Given the description of an element on the screen output the (x, y) to click on. 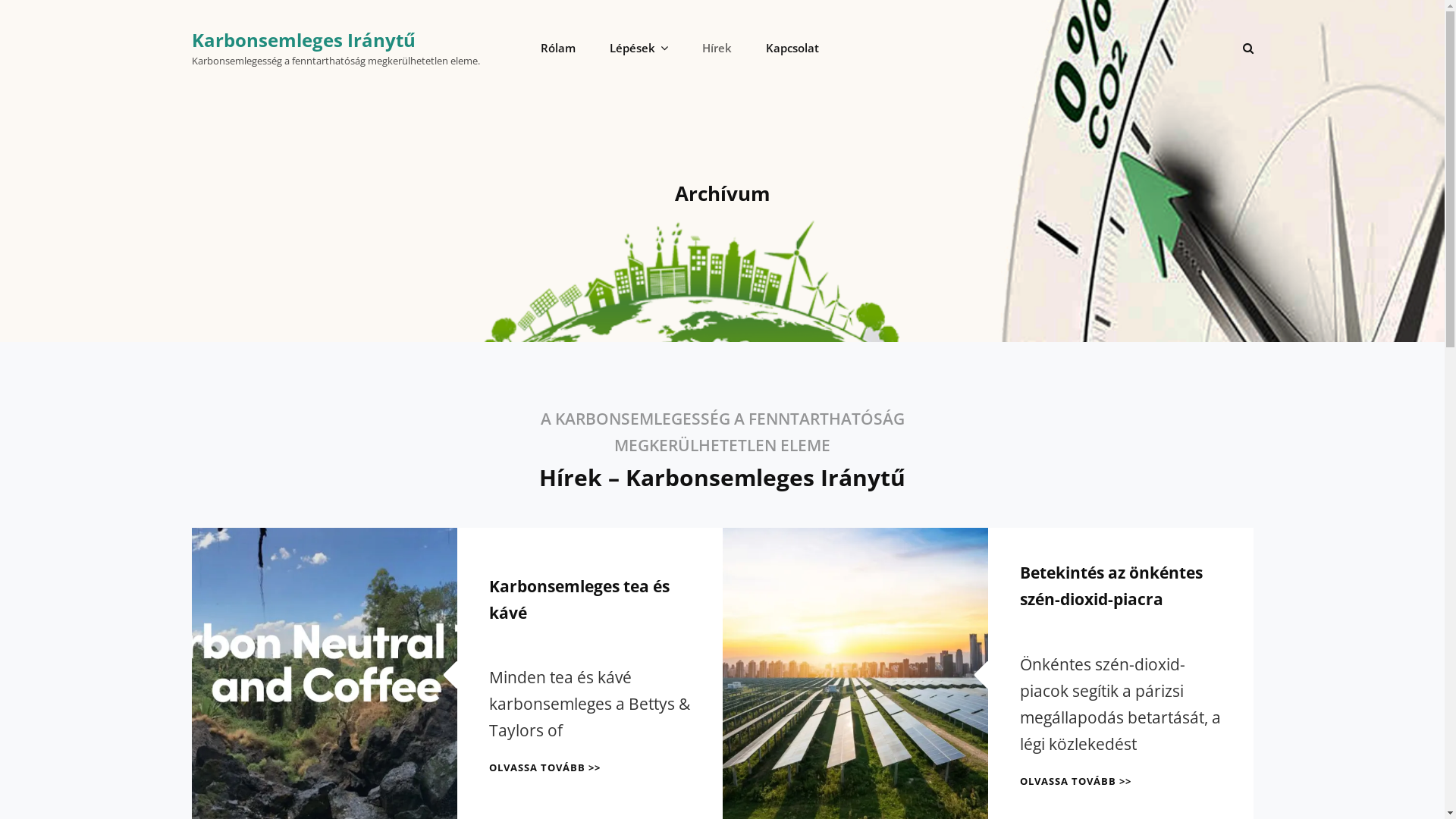
2020.02.19. Element type: text (1050, 626)
SEARCH Element type: text (1247, 47)
2021.06.27. Element type: text (519, 639)
Kapcsolat Element type: text (792, 47)
